Given the description of an element on the screen output the (x, y) to click on. 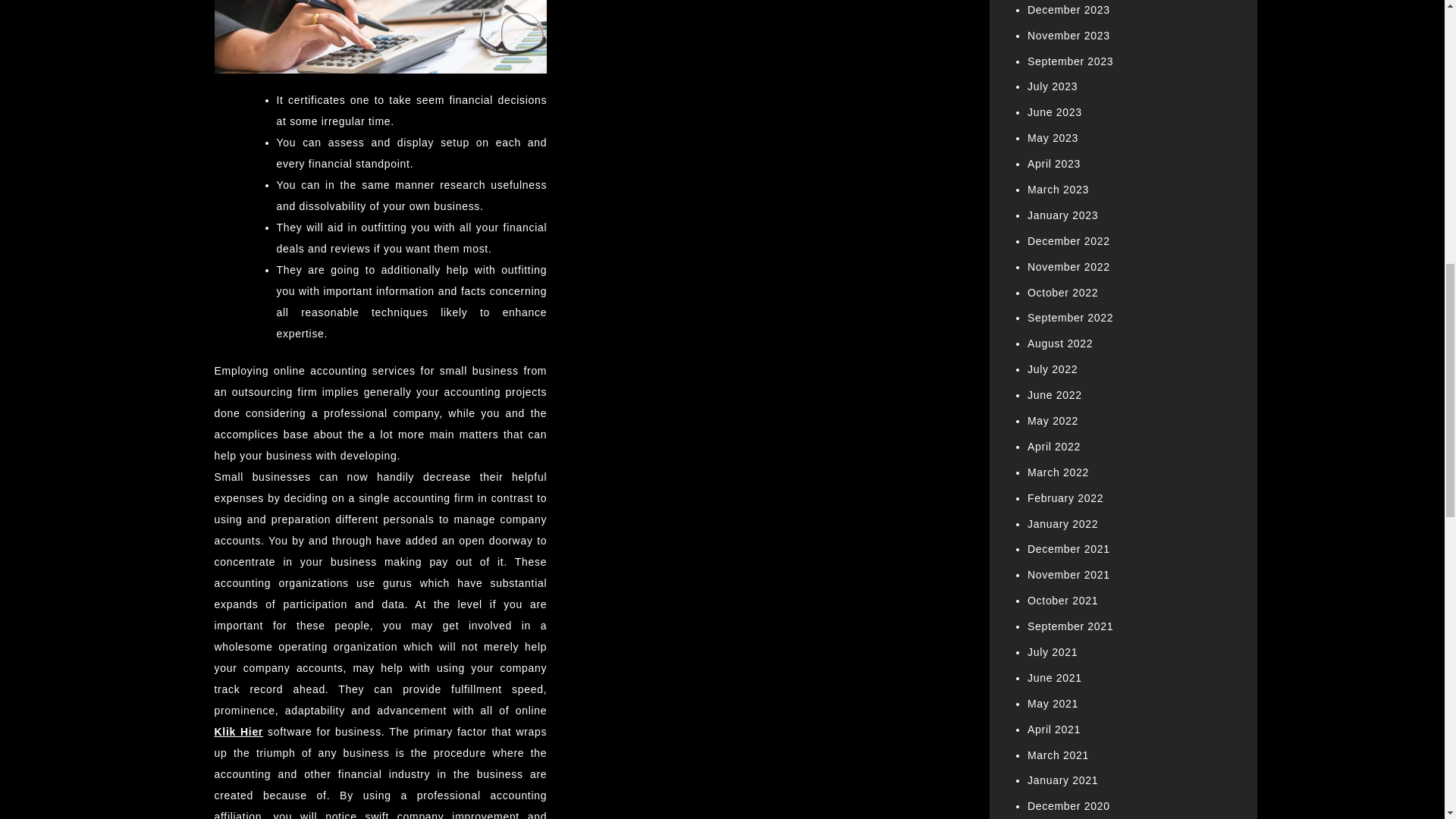
Klik Hier (238, 731)
September 2023 (1070, 60)
September 2022 (1070, 317)
July 2023 (1052, 86)
November 2023 (1068, 35)
April 2023 (1053, 163)
October 2022 (1062, 292)
December 2023 (1068, 9)
November 2022 (1068, 266)
January 2023 (1062, 215)
